Given the description of an element on the screen output the (x, y) to click on. 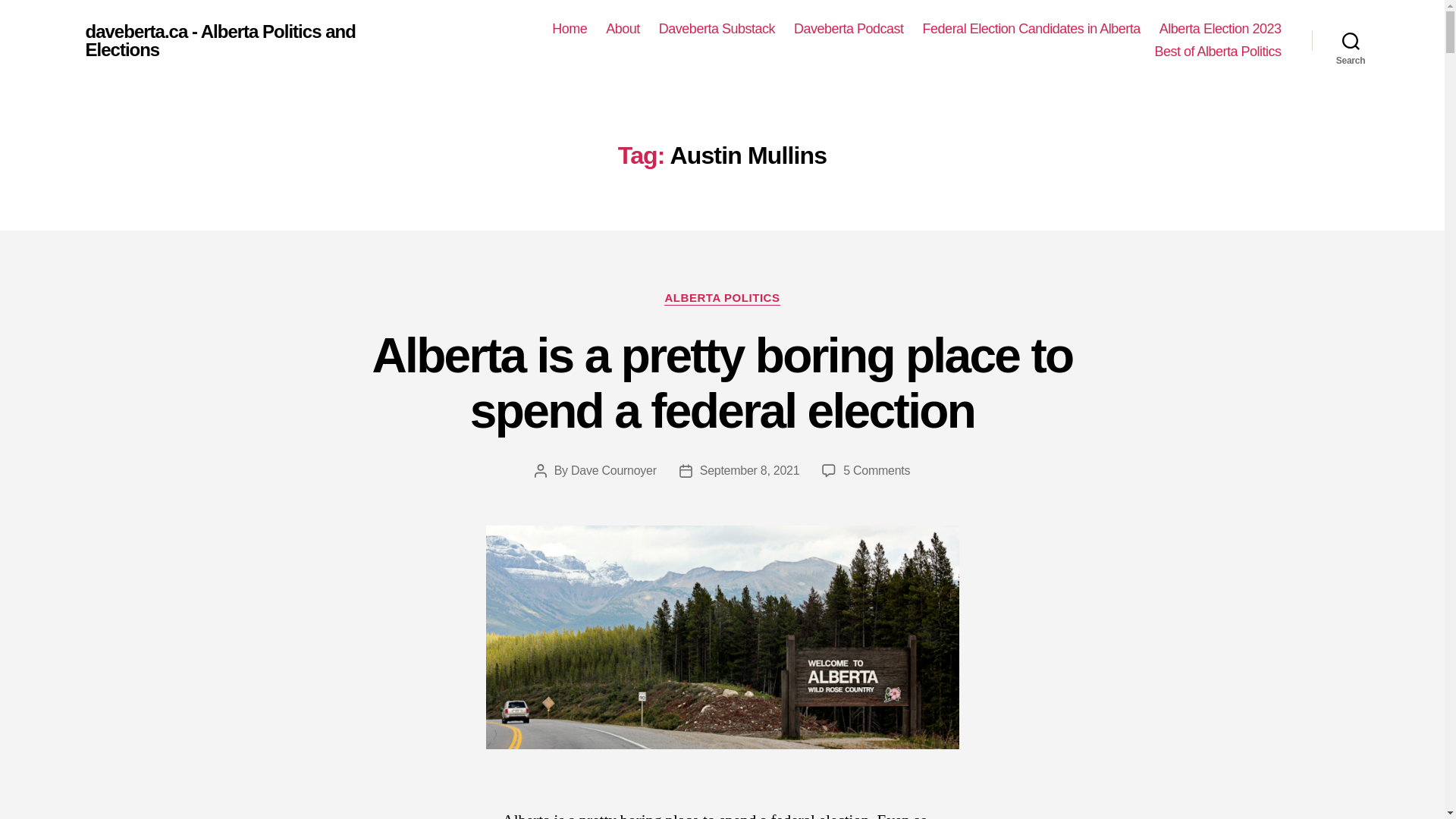
Search (1350, 40)
Federal Election Candidates in Alberta (1031, 29)
Daveberta Podcast (848, 29)
daveberta.ca - Alberta Politics and Elections (250, 40)
Best of Alberta Politics (1217, 52)
Daveberta Substack (716, 29)
September 8, 2021 (749, 470)
ALBERTA POLITICS (720, 298)
About (622, 29)
Alberta Election 2023 (1219, 29)
Alberta is a pretty boring place to spend a federal election (721, 383)
Dave Cournoyer (613, 470)
Home (568, 29)
